Given the description of an element on the screen output the (x, y) to click on. 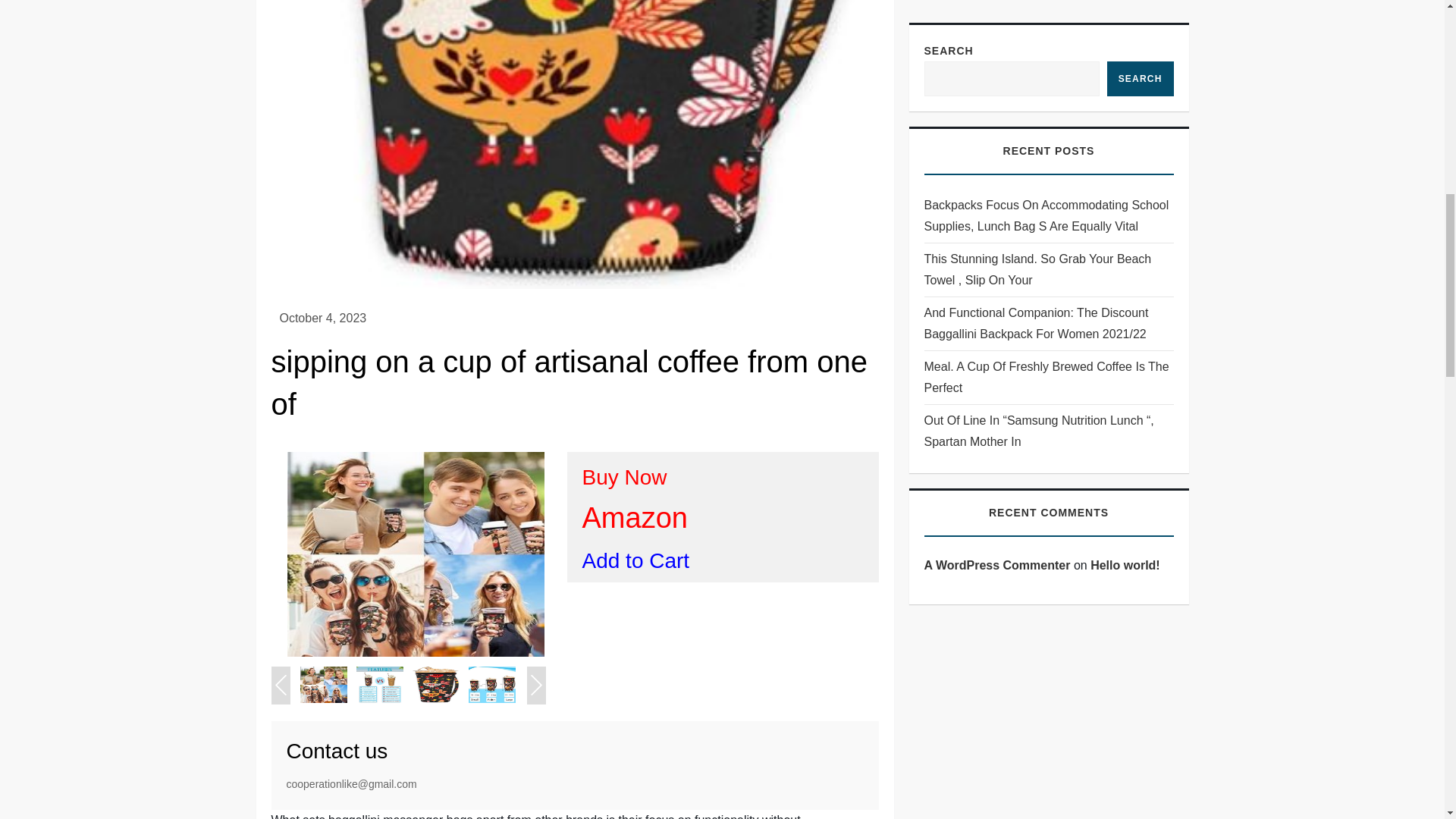
October 4, 2023 (322, 318)
Amazon (634, 517)
Buy Now (624, 477)
Add to Cart (636, 560)
